Given the description of an element on the screen output the (x, y) to click on. 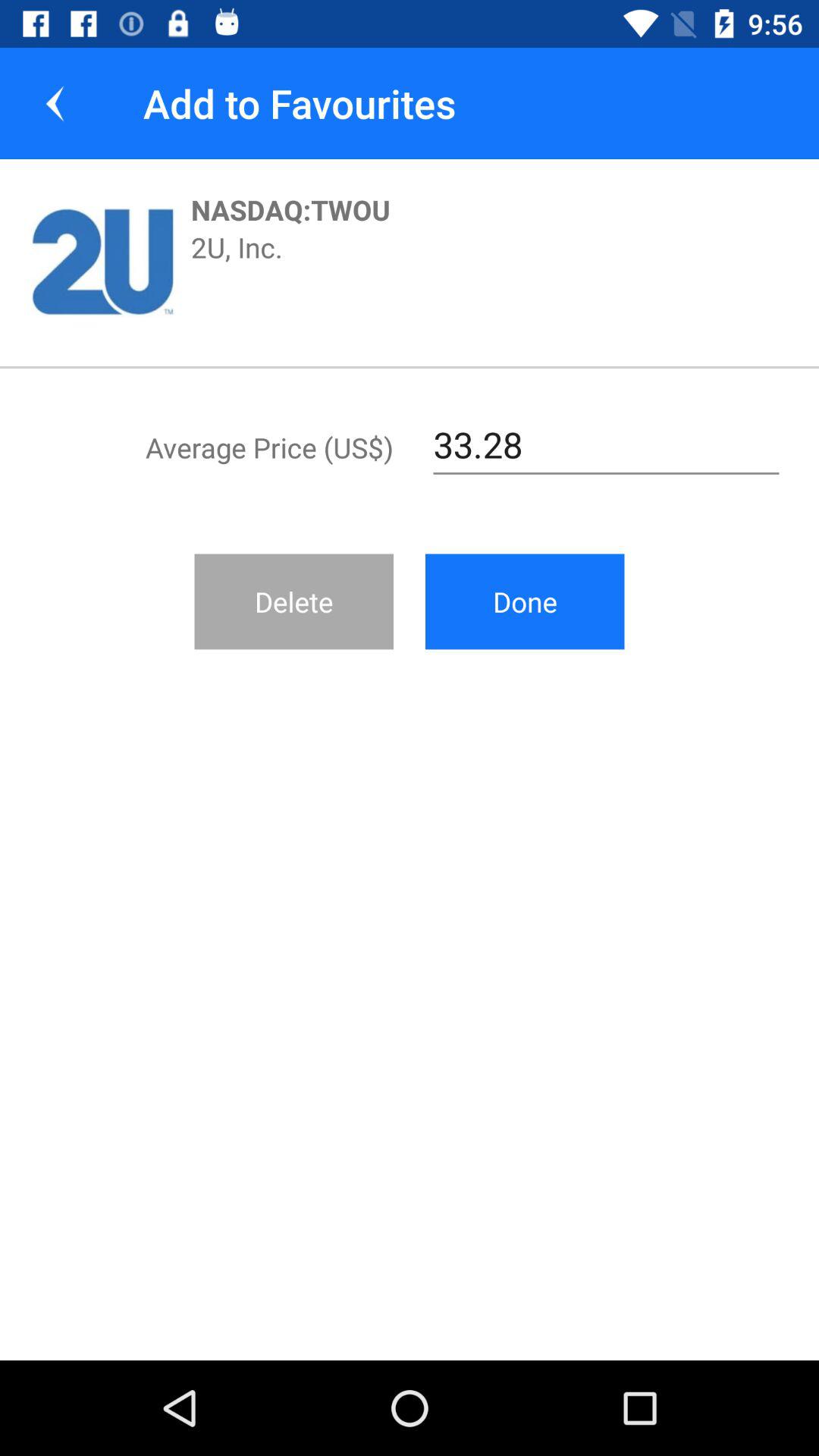
flip until 33.28 icon (606, 445)
